Given the description of an element on the screen output the (x, y) to click on. 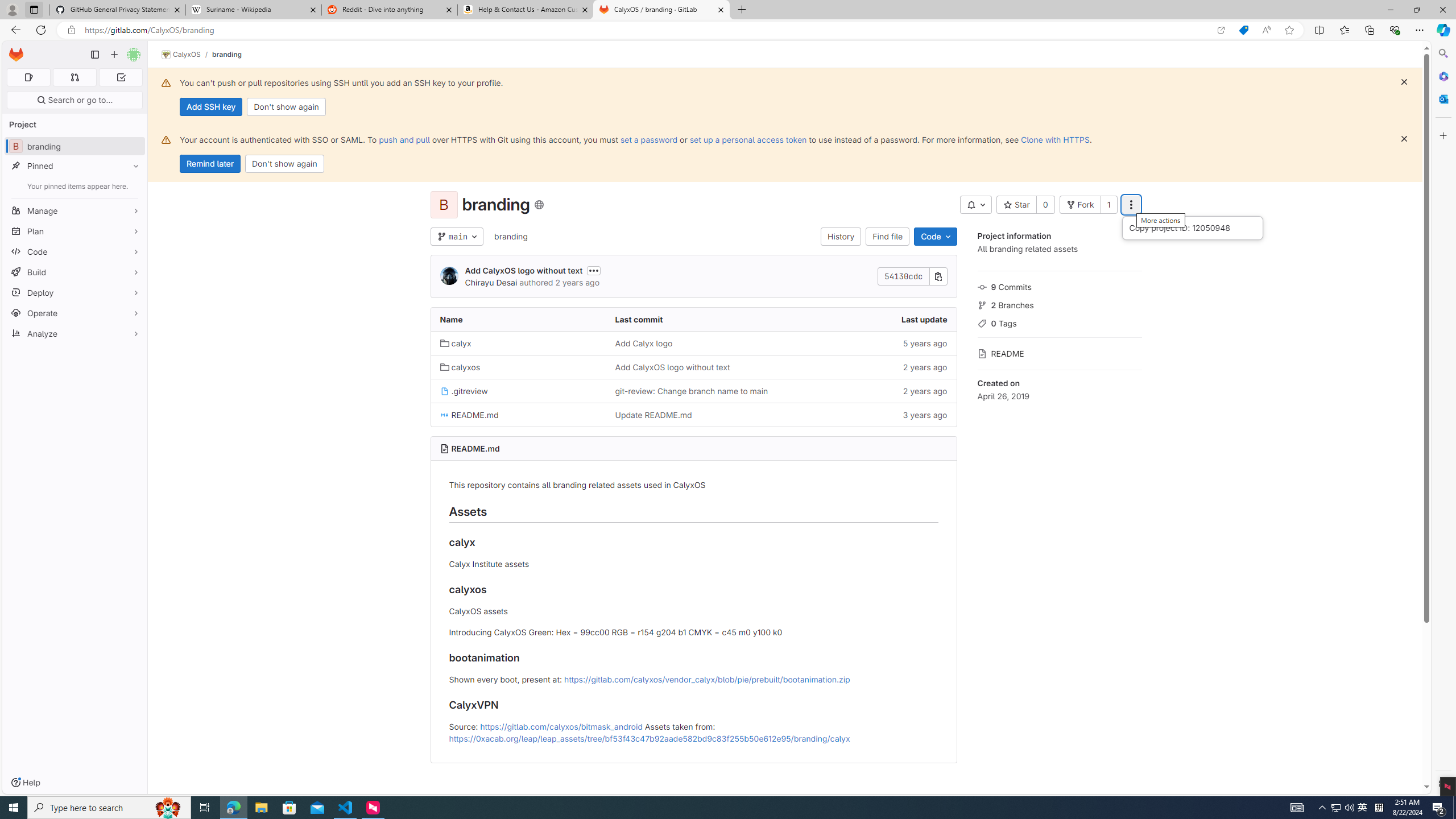
Plan (74, 230)
Analyze (74, 333)
Clone with HTTPS (1054, 139)
Toggle commit description (593, 270)
0 (1045, 204)
Suriname - Wikipedia (253, 9)
